Given the description of an element on the screen output the (x, y) to click on. 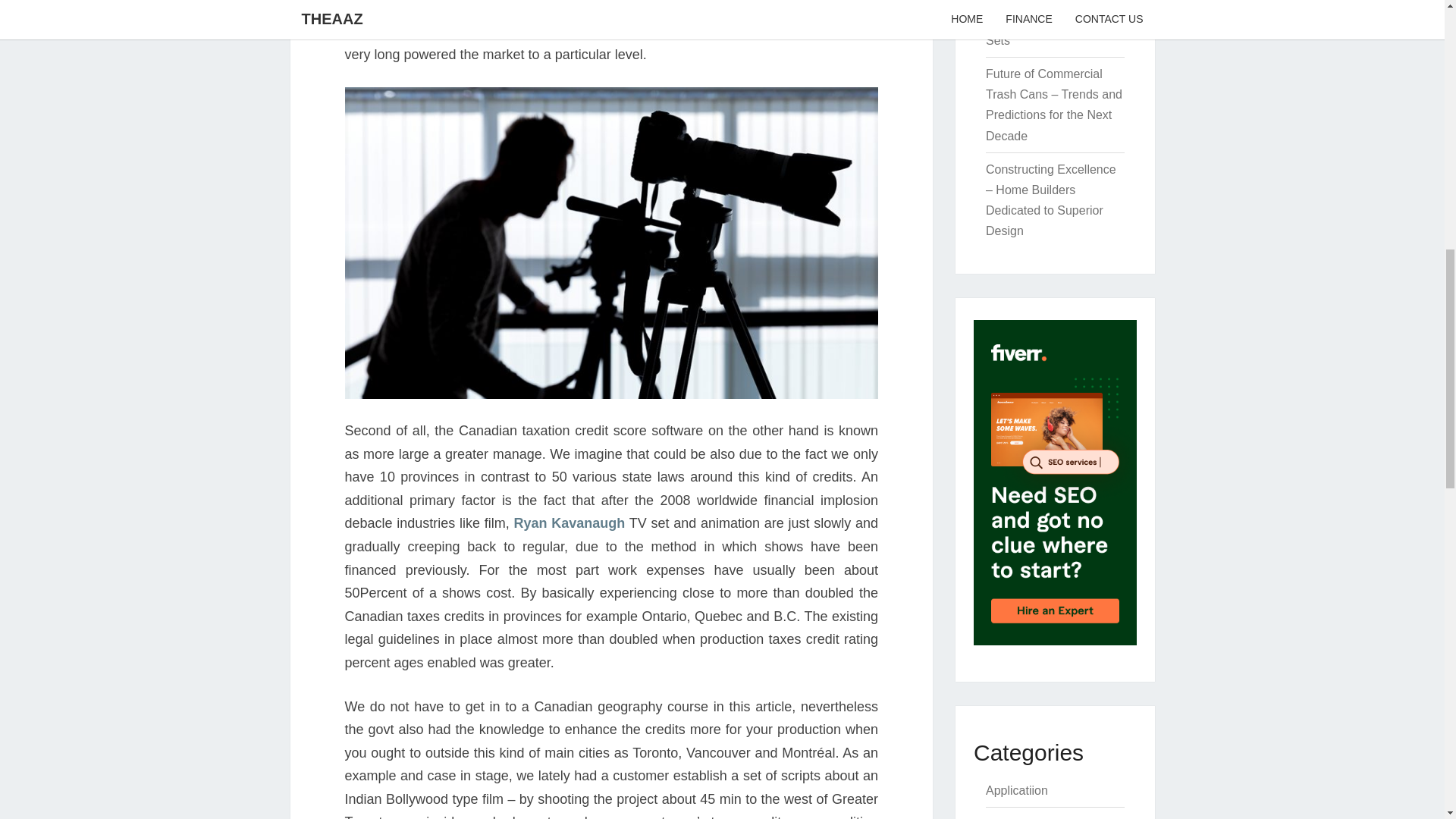
Ryan Kavanaugh (569, 522)
Automobiles (1018, 818)
Applicatiion (1016, 789)
